Given the description of an element on the screen output the (x, y) to click on. 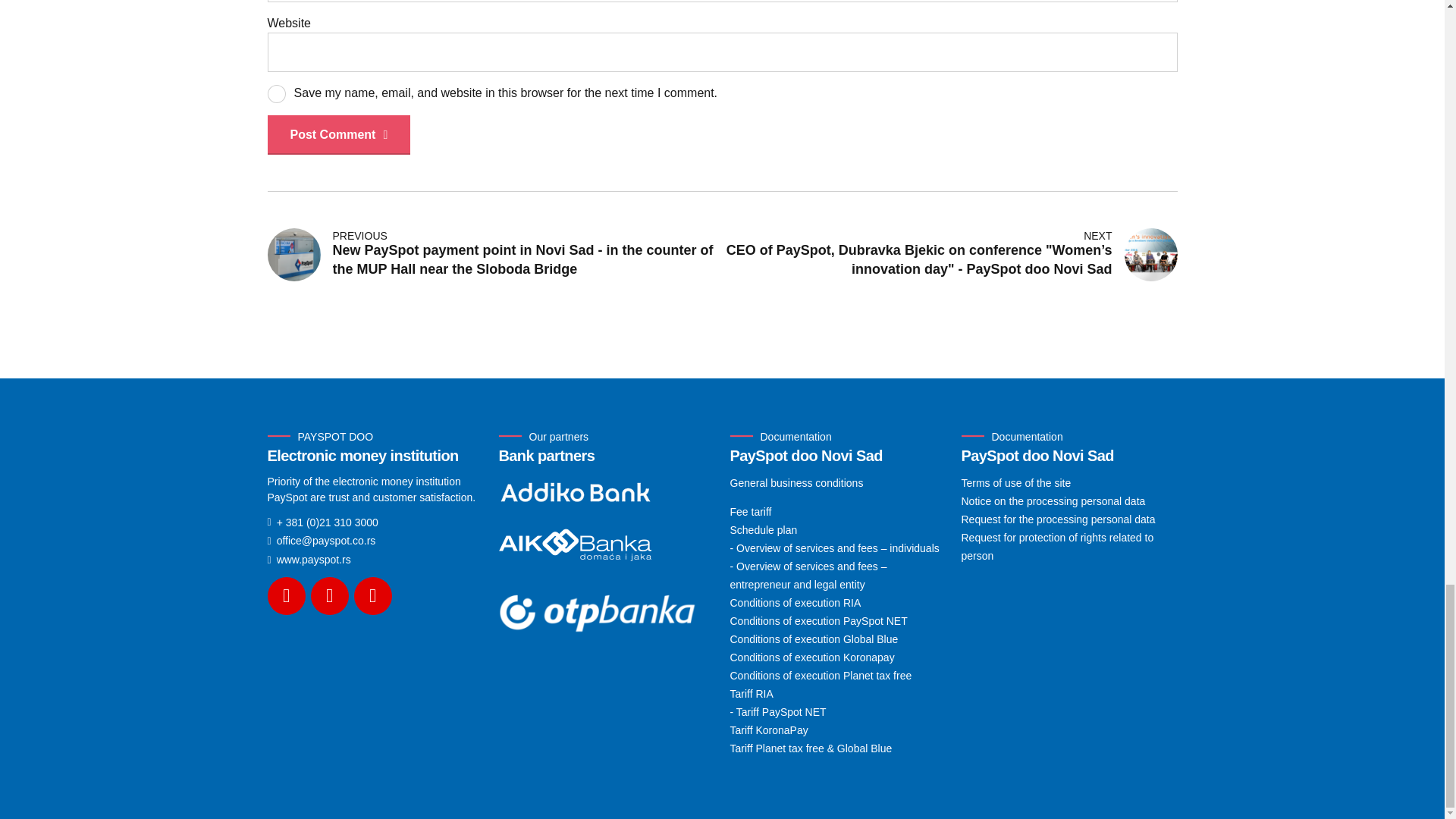
Adiko Banka partner (576, 492)
www.payspot.rs (308, 560)
yes (275, 94)
AIK Banka partner (576, 542)
Post Comment (338, 134)
www.payspot.rs (308, 560)
OTP-logo-600x225-beli (606, 610)
